Given the description of an element on the screen output the (x, y) to click on. 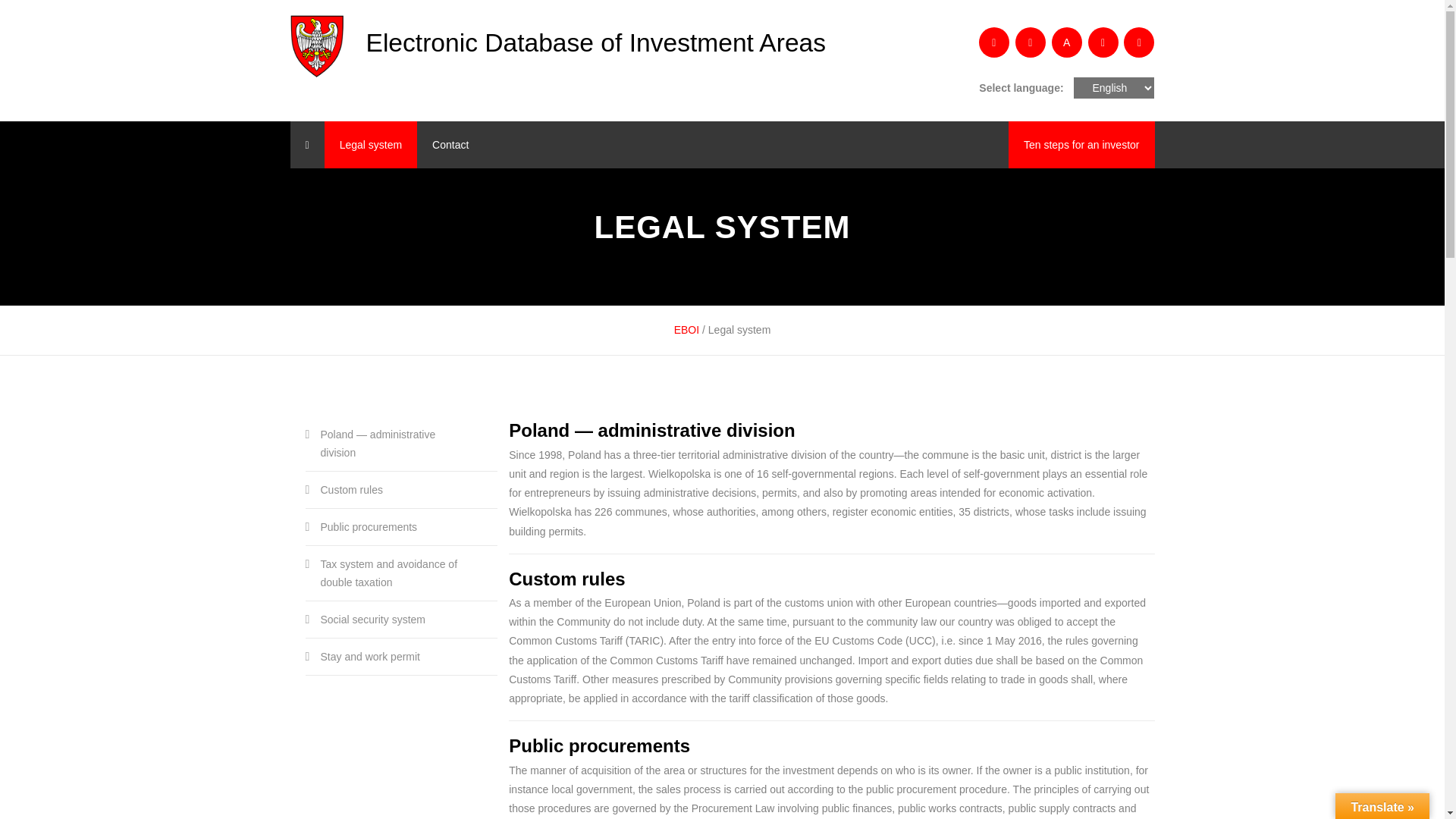
Tax system and avoidance of double taxation (389, 573)
Ten steps for an investor (1081, 144)
Custom rules (389, 489)
Stay and work permit (389, 656)
EBOI (686, 329)
Go to sitemap (1139, 42)
Legal system (370, 144)
Electronic Database of Investment Areas (574, 43)
A (1066, 42)
Sitemap (1139, 42)
